Given the description of an element on the screen output the (x, y) to click on. 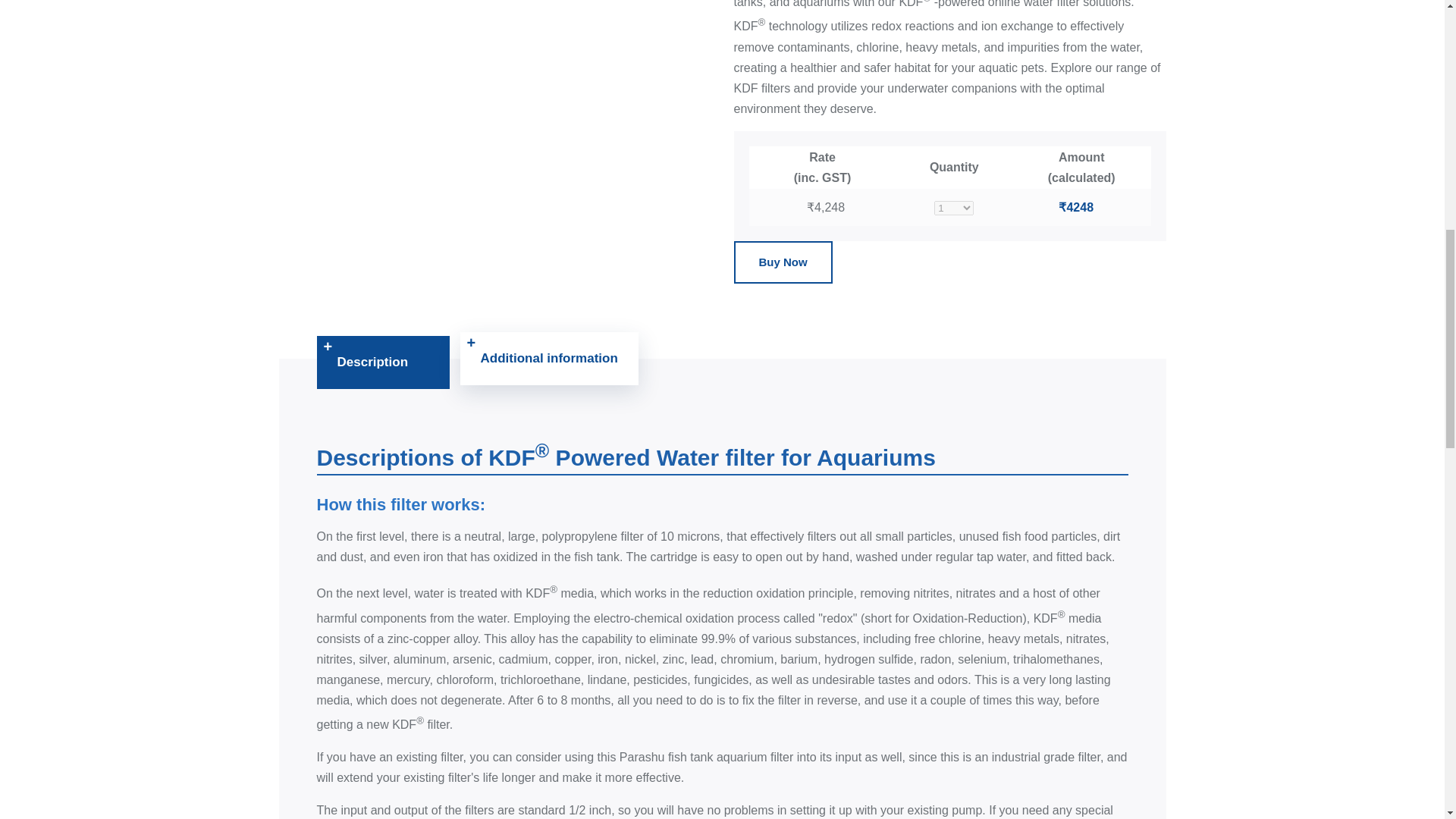
Buy Now (782, 261)
